Given the description of an element on the screen output the (x, y) to click on. 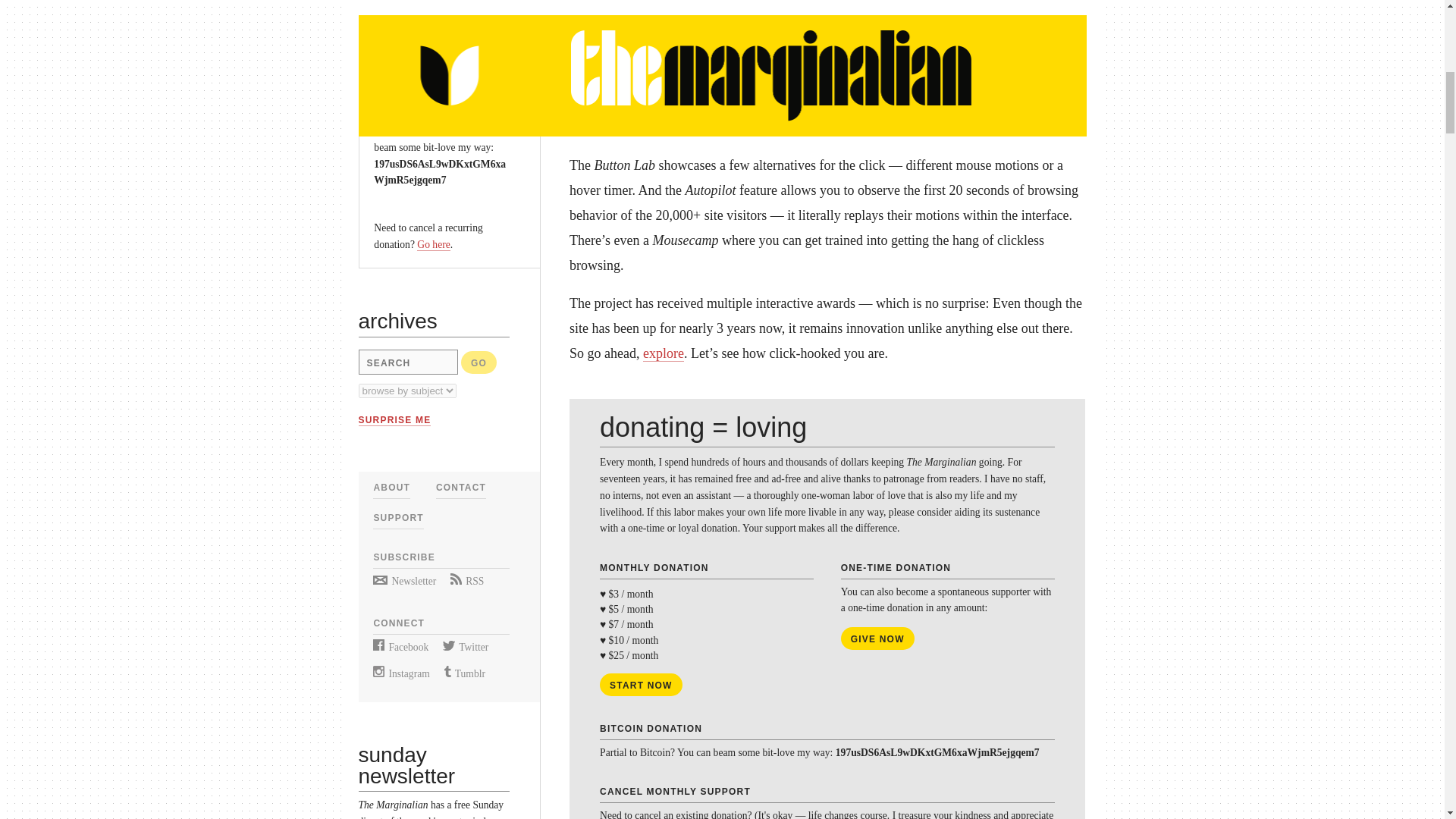
Newsletter (403, 581)
RSS (466, 581)
Go here (432, 244)
Go (478, 362)
Tumblr (464, 673)
Mouse Camp (827, 106)
Click History (826, 23)
Facebook (400, 646)
Instagram (400, 673)
CONTACT (460, 487)
